Given the description of an element on the screen output the (x, y) to click on. 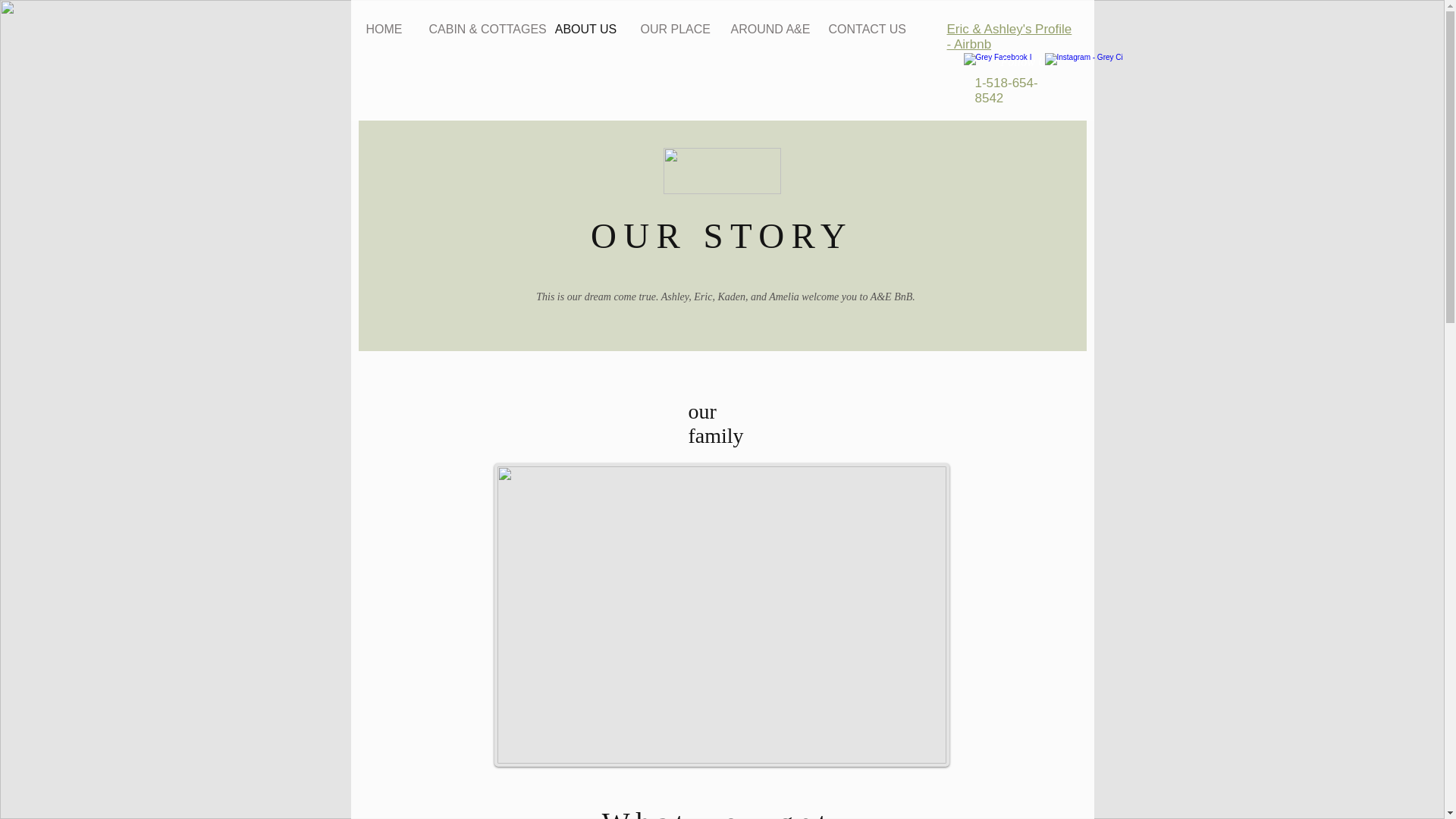
HOME (384, 29)
CONTACT US (863, 29)
OUR PLACE (672, 29)
ABOUT US (585, 29)
